Given the description of an element on the screen output the (x, y) to click on. 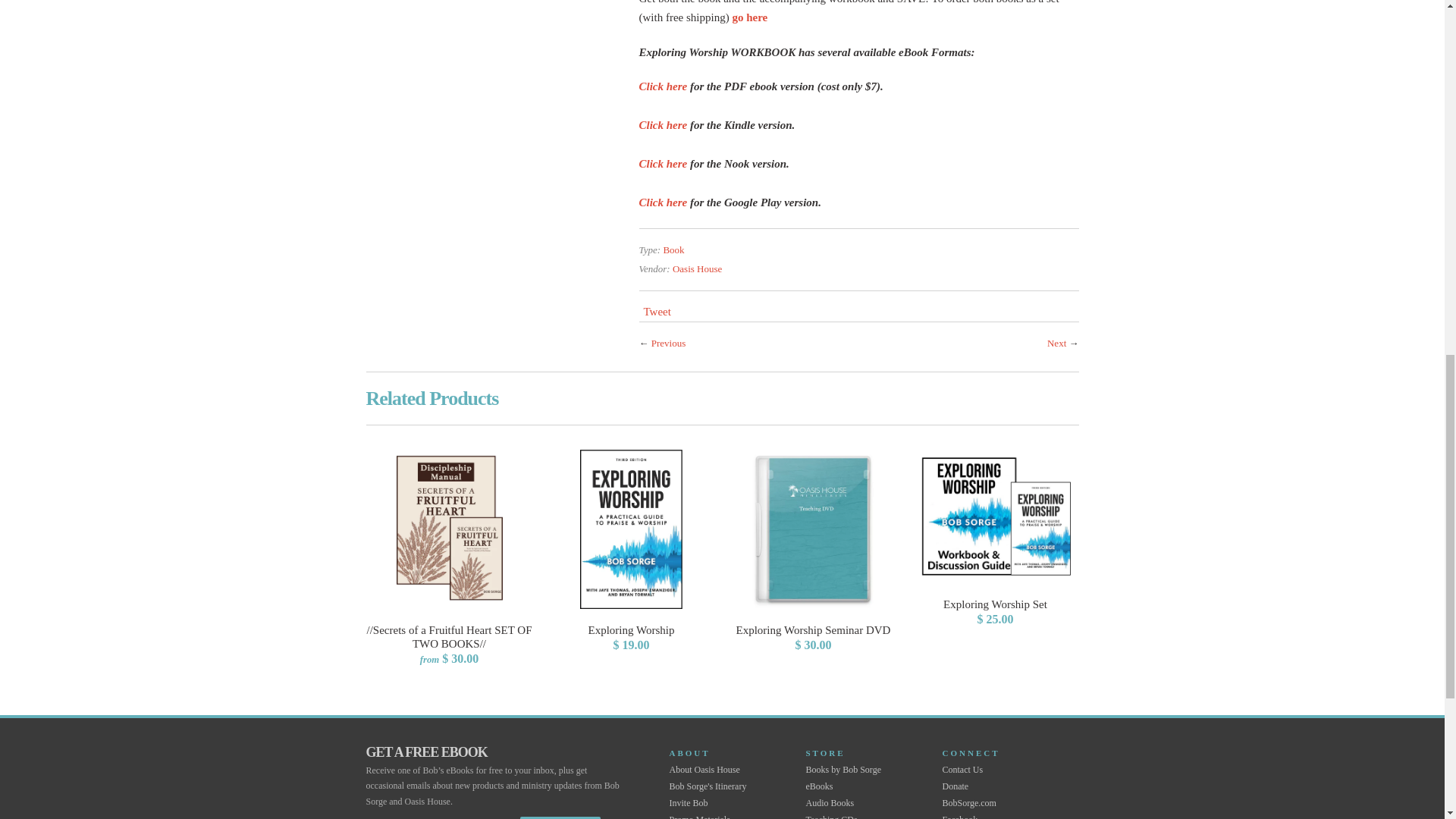
Sign Up (559, 817)
